Given the description of an element on the screen output the (x, y) to click on. 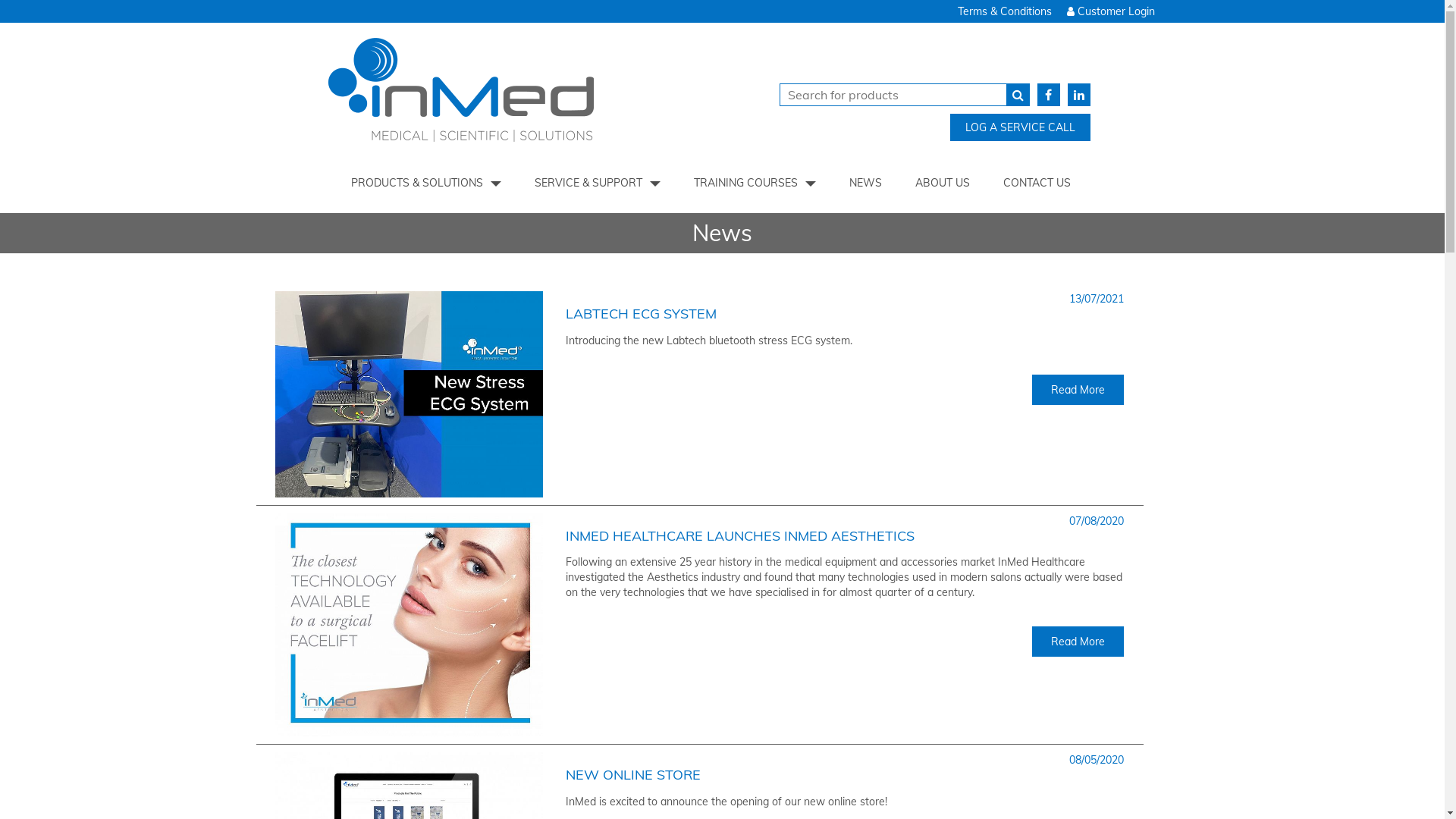
NEWS Element type: text (865, 182)
PRODUCTS & SOLUTIONS Element type: text (426, 182)
TRAINING COURSES Element type: text (754, 182)
InMed Medical Scientific Solutions Element type: text (513, 94)
ABOUT US Element type: text (942, 182)
LOG A SERVICE CALL Element type: text (1021, 127)
SERVICE & SUPPORT Element type: text (597, 182)
Terms & Conditions Element type: text (1004, 11)
CONTACT US Element type: text (1036, 182)
